Given the description of an element on the screen output the (x, y) to click on. 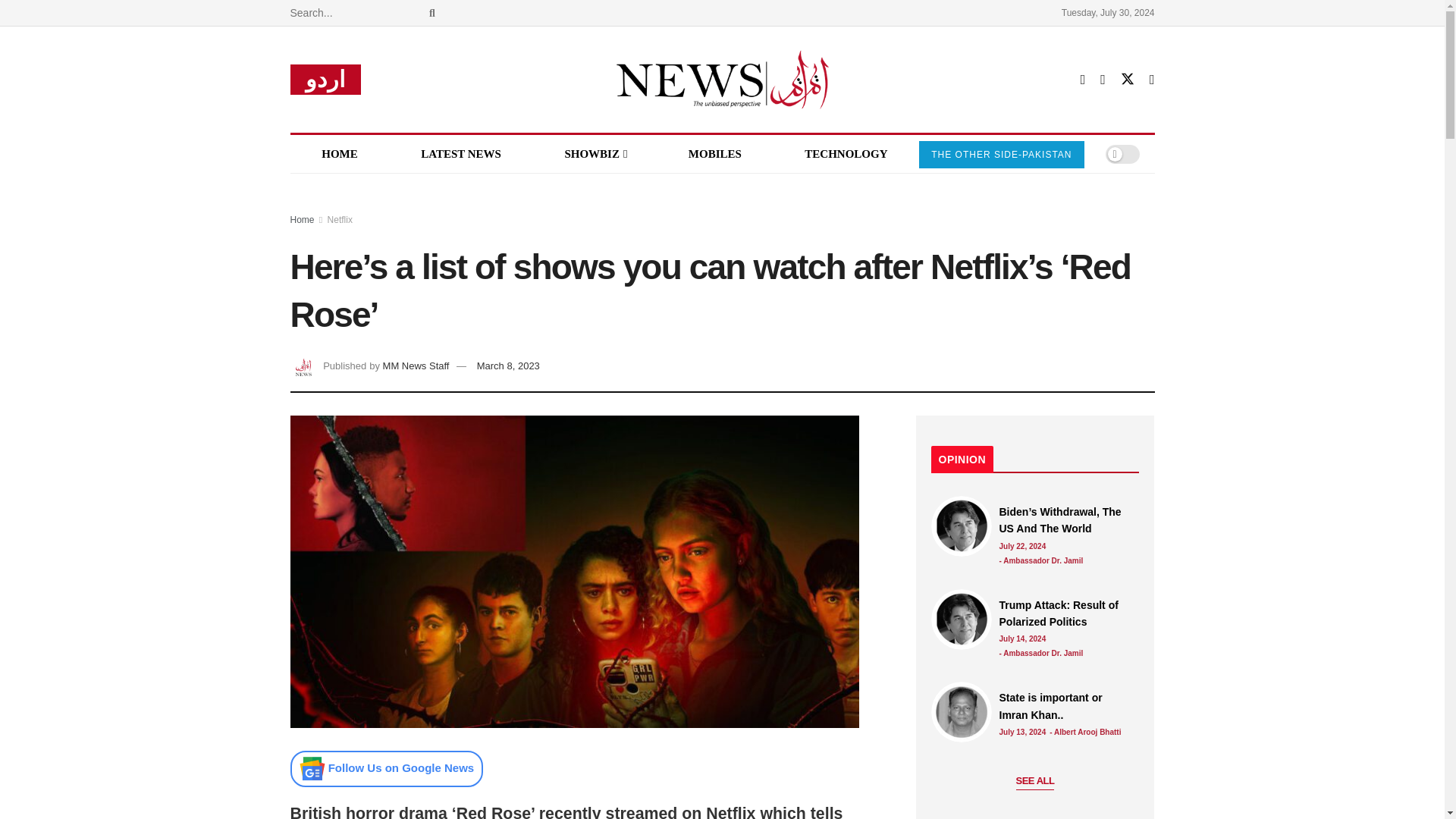
State is important or Imran Khan.. (961, 711)
MOBILES (714, 153)
Trump Attack: Result of Polarized Politics (1065, 613)
HOME (338, 153)
State is important or Imran Khan.. (1065, 706)
LATEST NEWS (460, 153)
SHOWBIZ (594, 153)
Trump Attack: Result of Polarized Politics (961, 619)
TECHNOLOGY (846, 153)
THE OTHER SIDE-PAKISTAN (1000, 154)
